Given the description of an element on the screen output the (x, y) to click on. 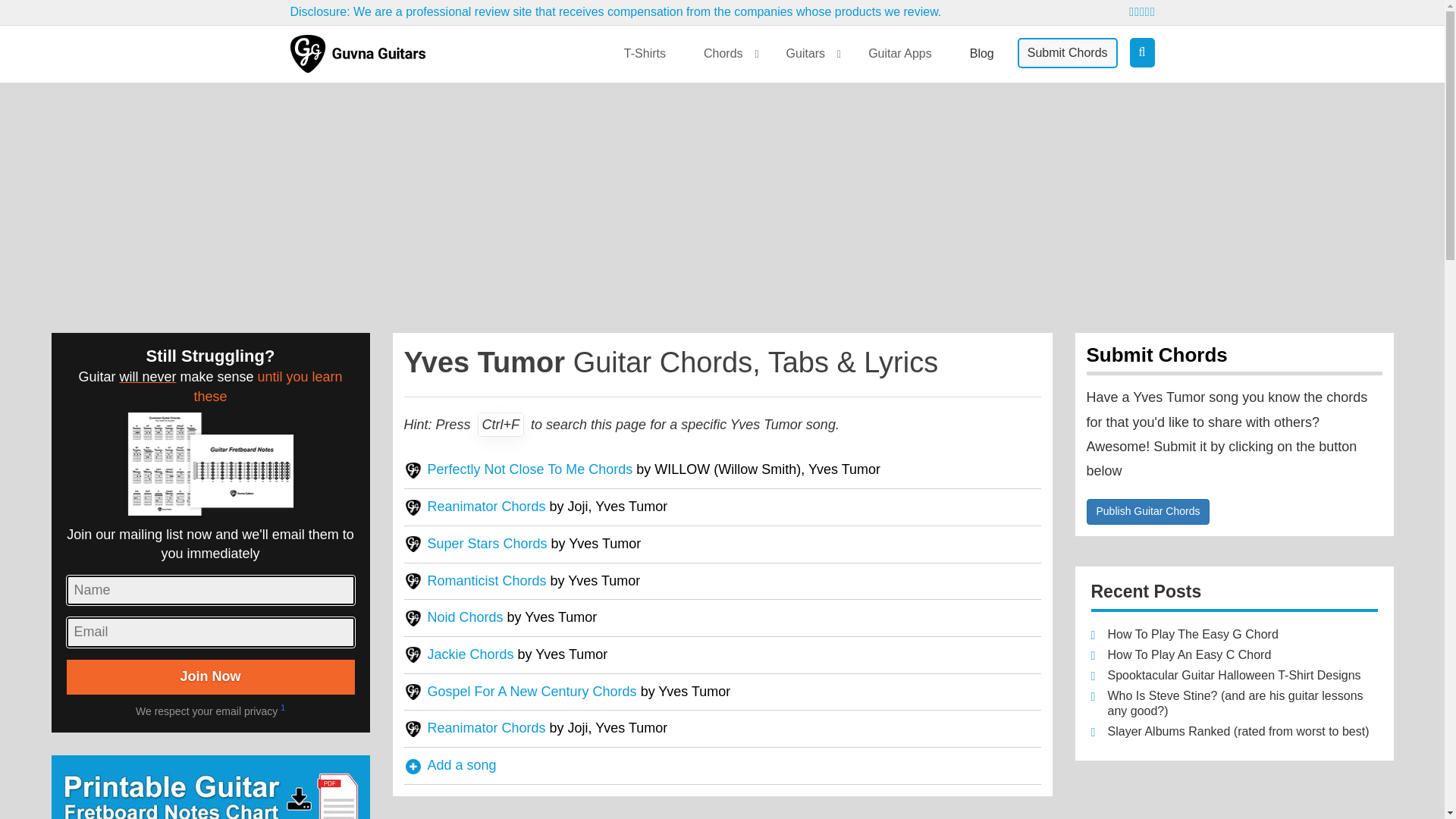
Chords (725, 53)
Join Now (210, 677)
T-Shirts (644, 53)
Guitars (808, 53)
